Given the description of an element on the screen output the (x, y) to click on. 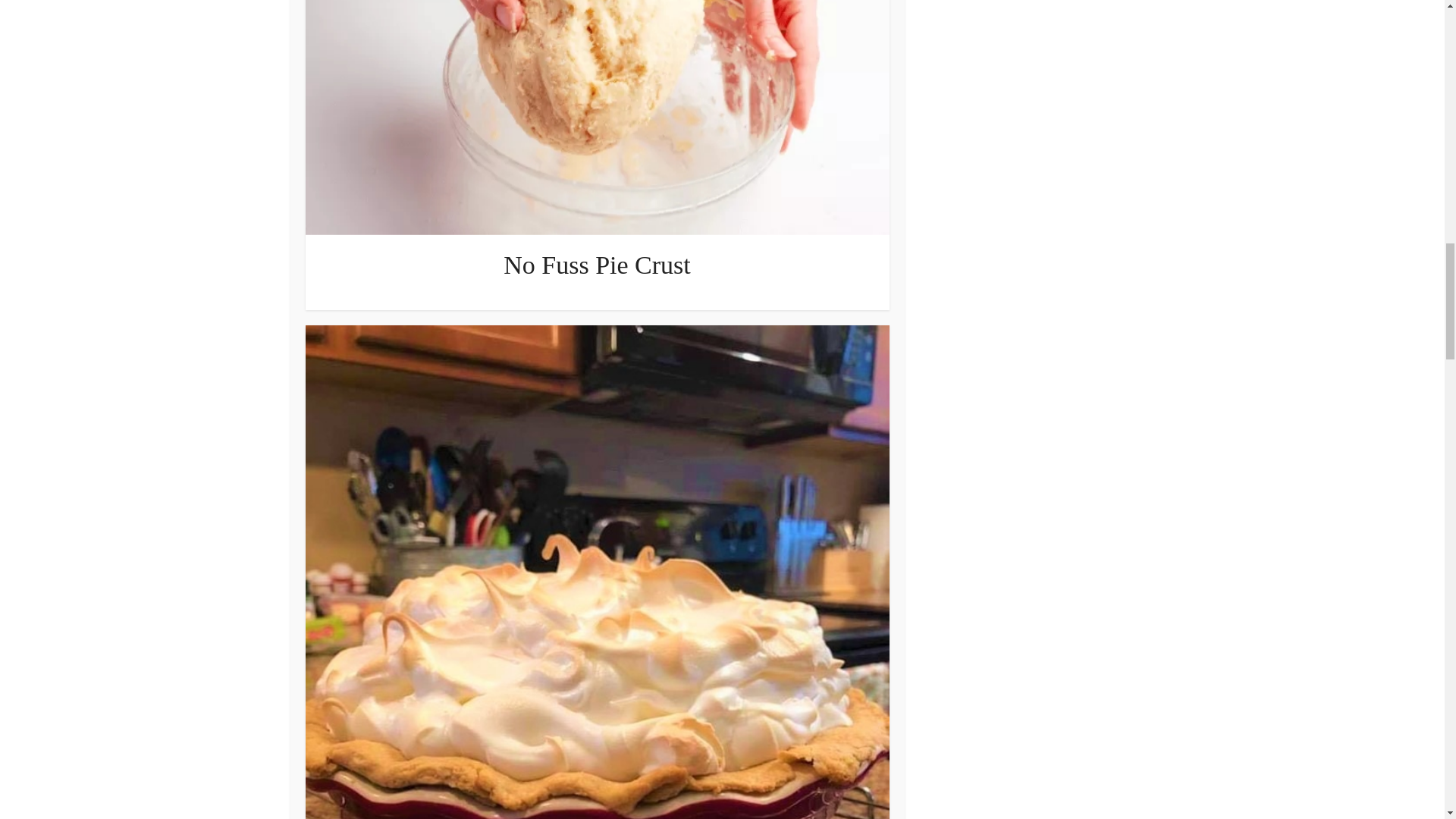
No Fuss Pie Crust (596, 264)
No Fuss Pie Crust (596, 264)
